Given the description of an element on the screen output the (x, y) to click on. 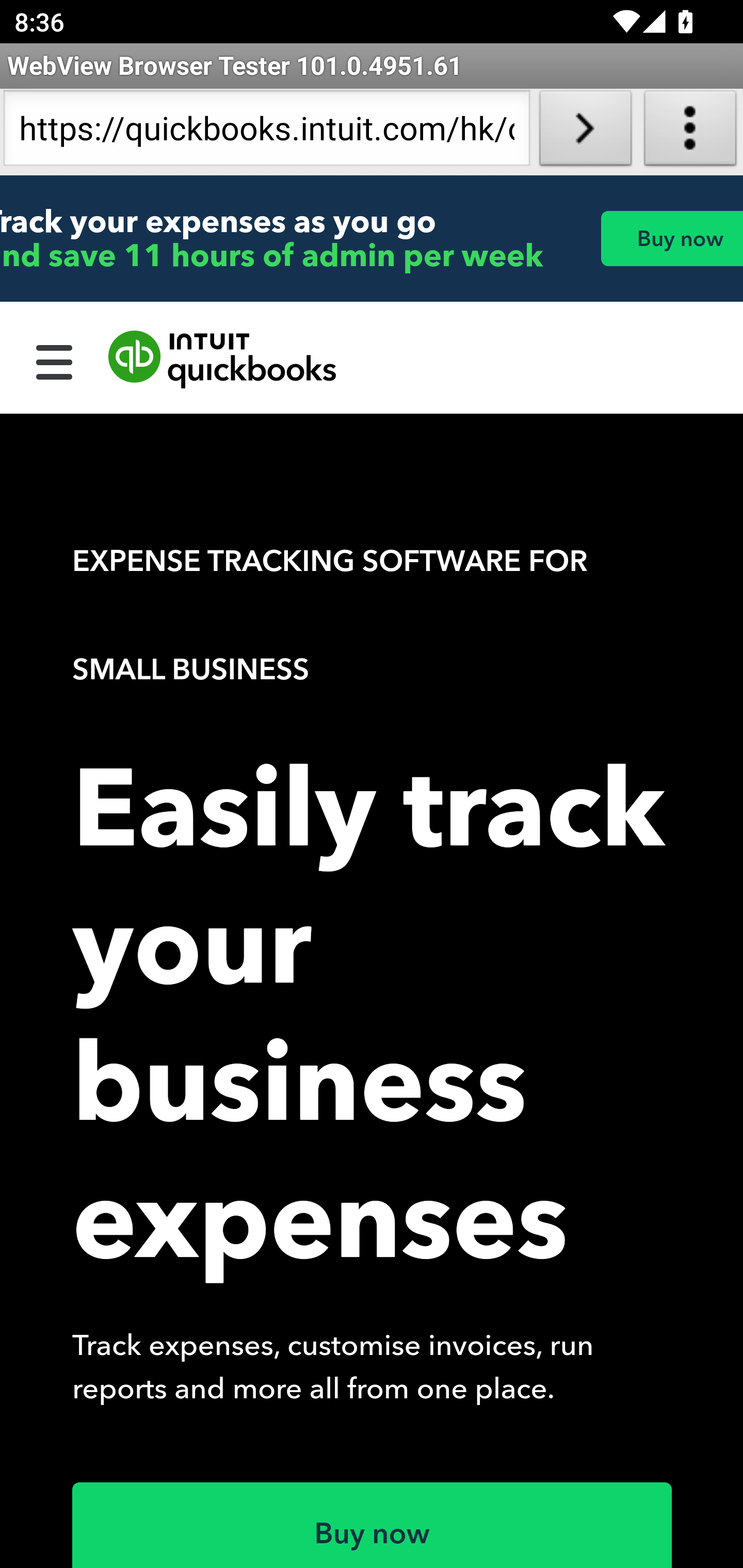
Load URL (585, 132)
About WebView (690, 132)
Buy now (671, 238)
quickbooks-mobile-burger (54, 359)
quickbooks (222, 359)
Buy now (372, 1524)
